Given the description of an element on the screen output the (x, y) to click on. 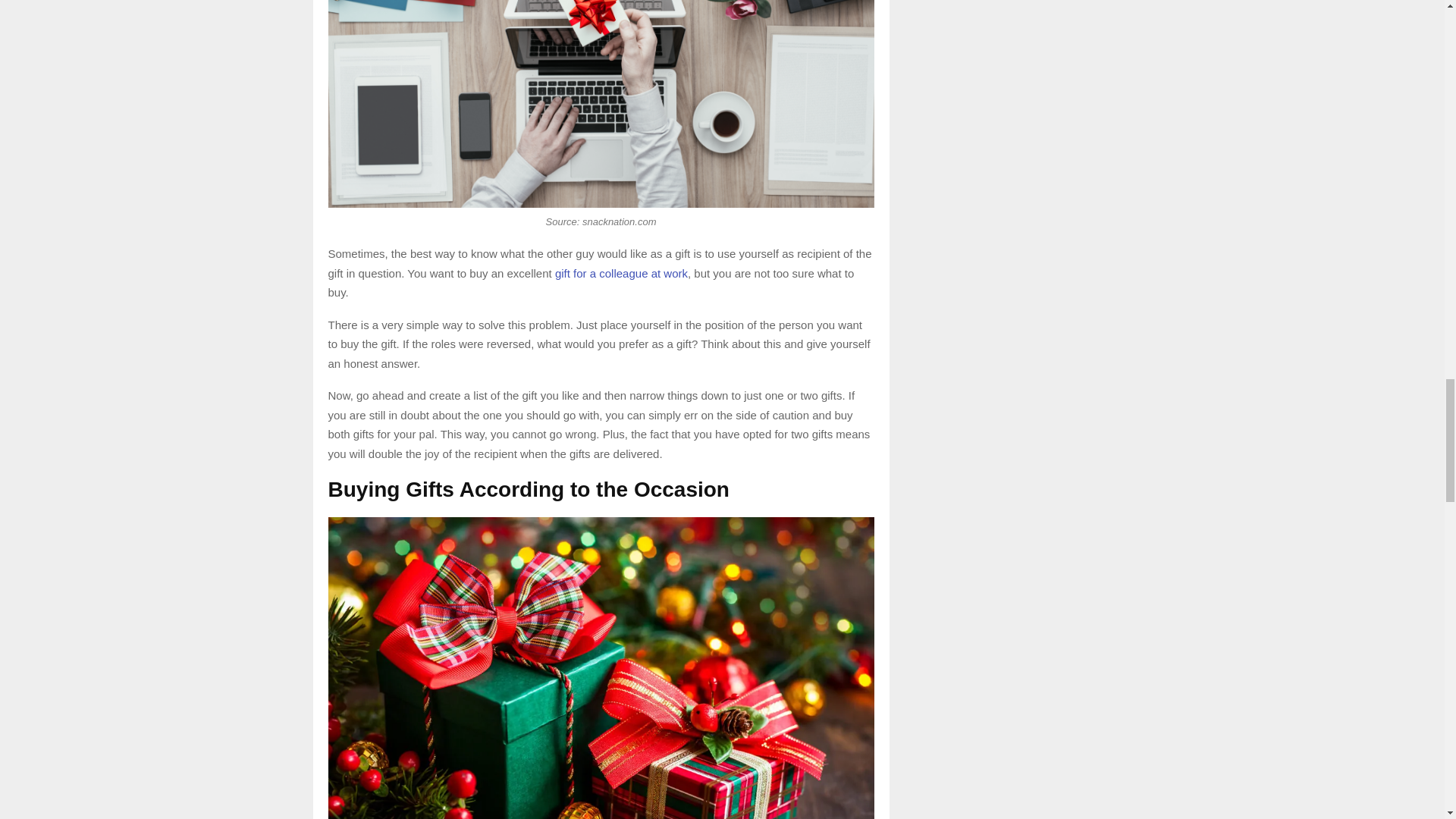
gift for a colleague at work (620, 273)
